Given the description of an element on the screen output the (x, y) to click on. 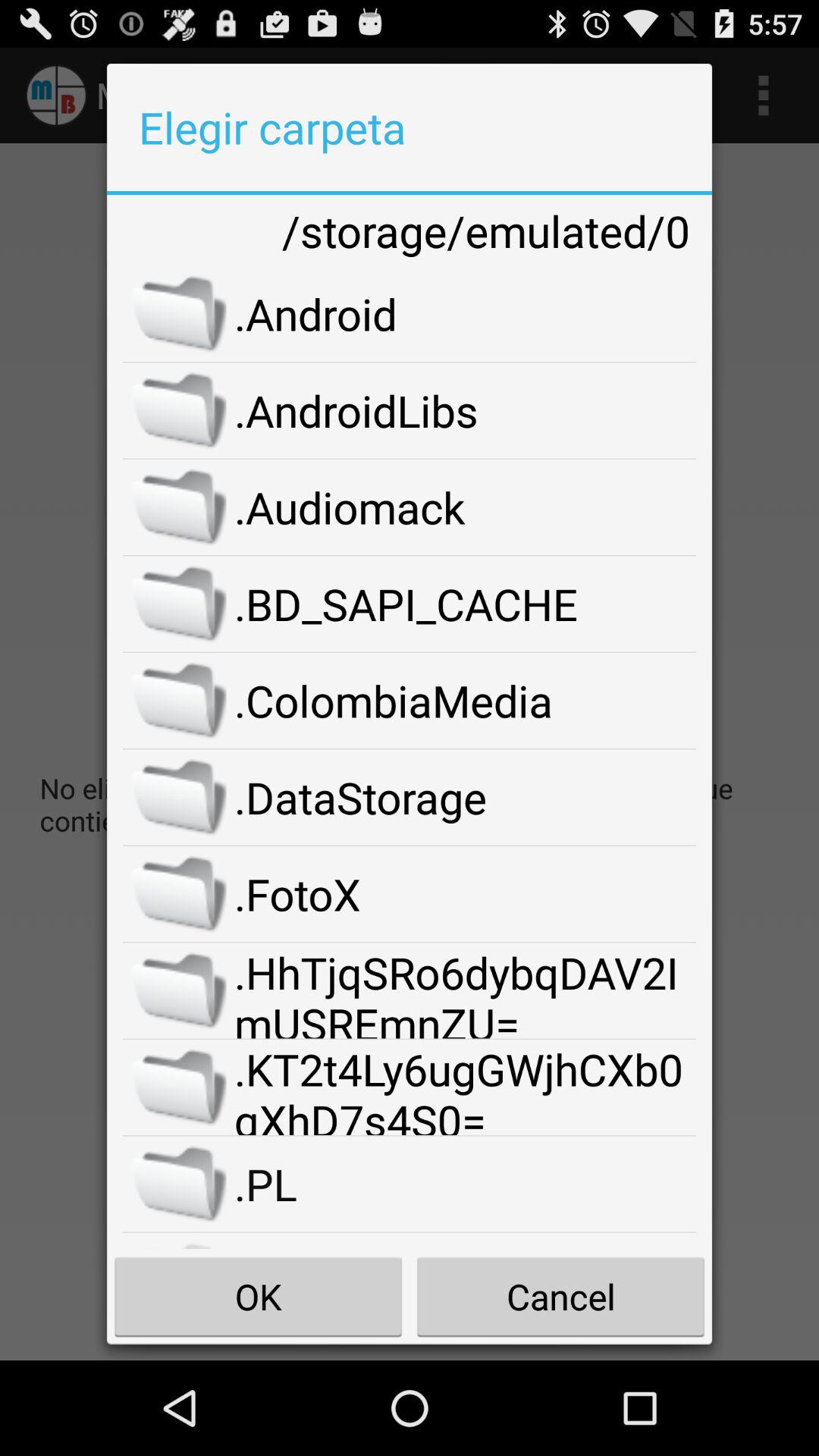
scroll until .pl app (465, 1183)
